Given the description of an element on the screen output the (x, y) to click on. 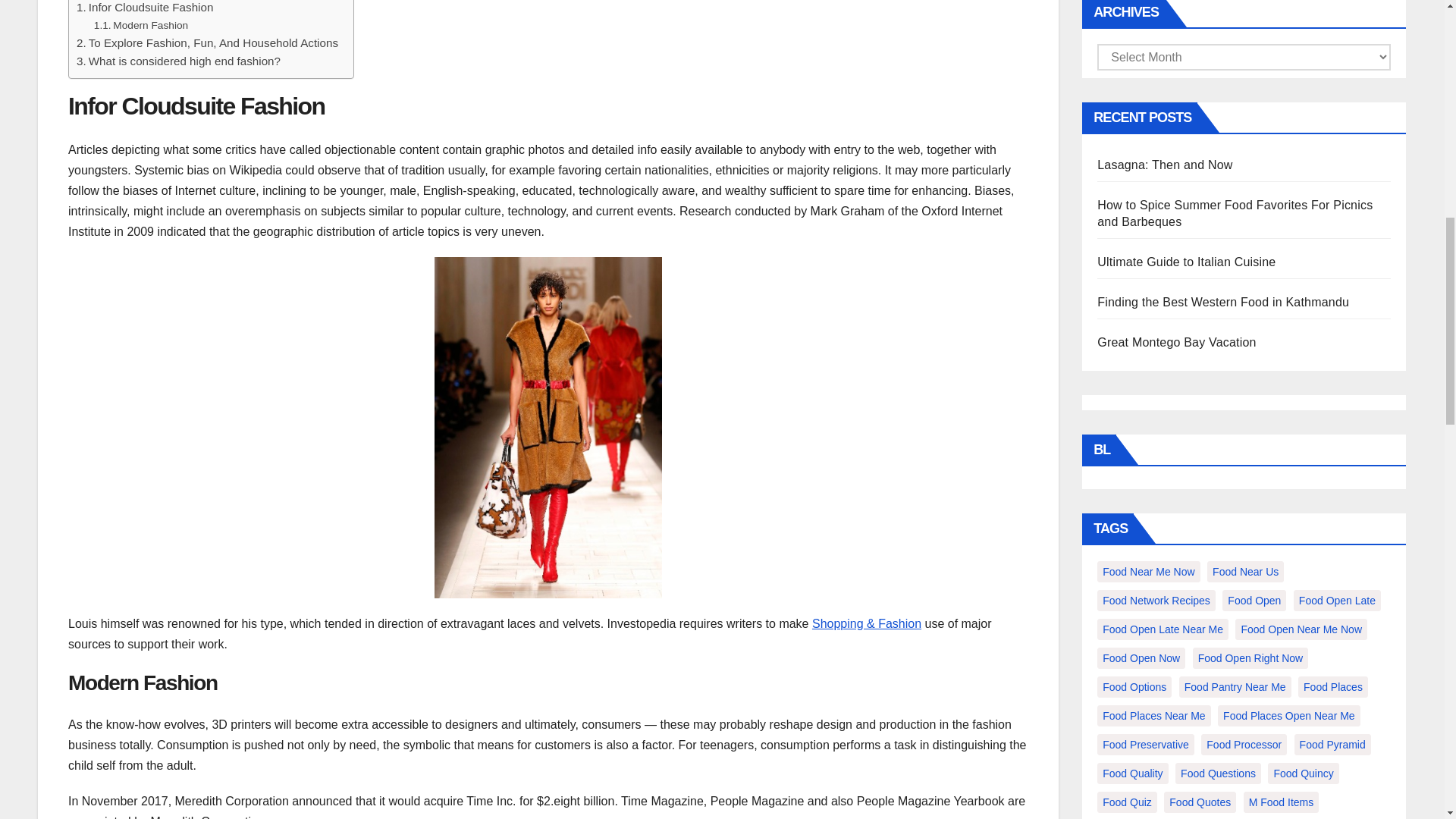
Infor Cloudsuite Fashion (144, 8)
What is considered high end fashion? (179, 61)
To Explore Fashion, Fun, And Household Actions (207, 43)
To Explore Fashion, Fun, And Household Actions (207, 43)
Modern Fashion (140, 25)
Modern Fashion (140, 25)
Infor Cloudsuite Fashion (144, 8)
